Given the description of an element on the screen output the (x, y) to click on. 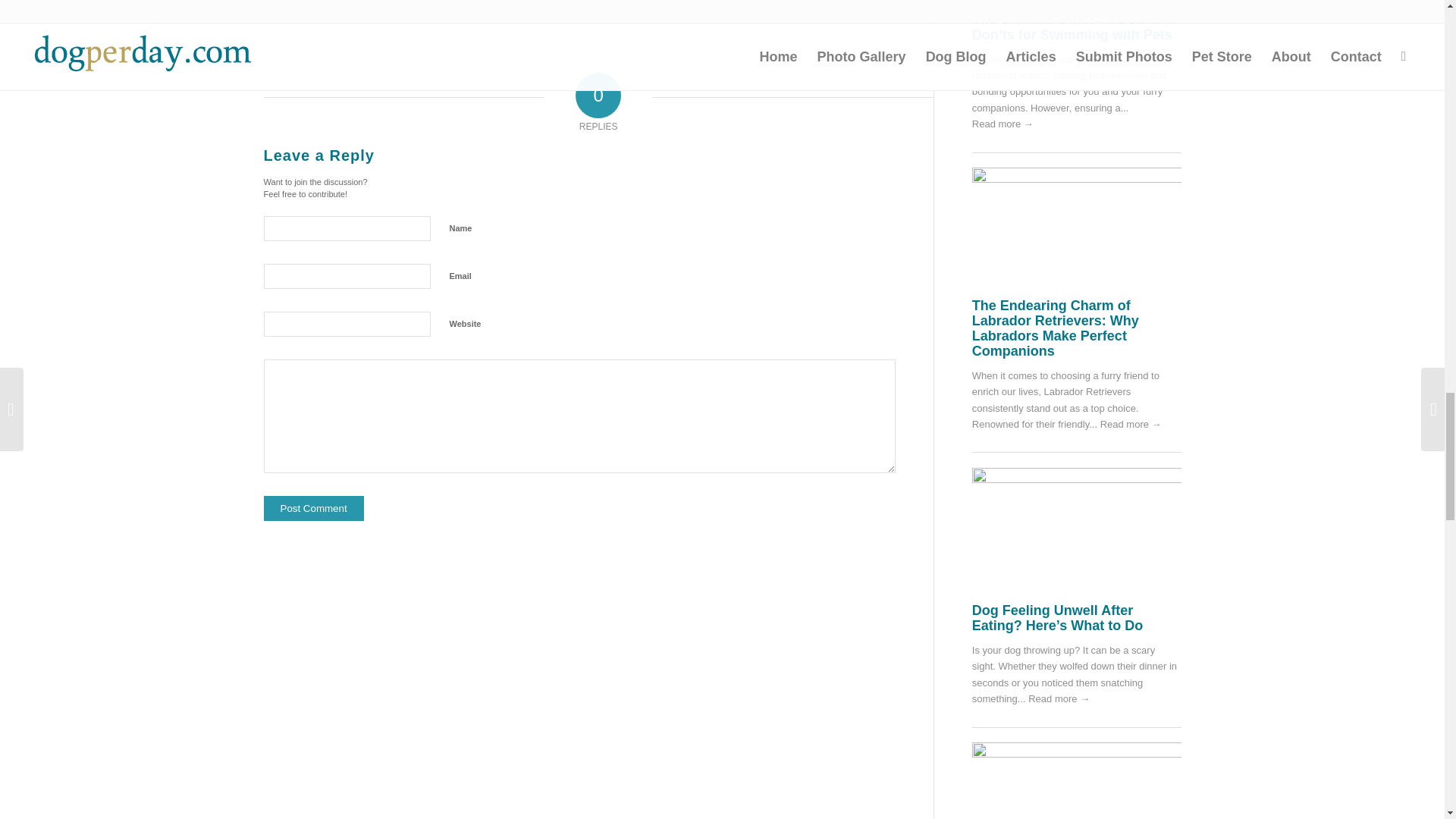
Post Comment (313, 508)
Post Comment (313, 508)
